Given the description of an element on the screen output the (x, y) to click on. 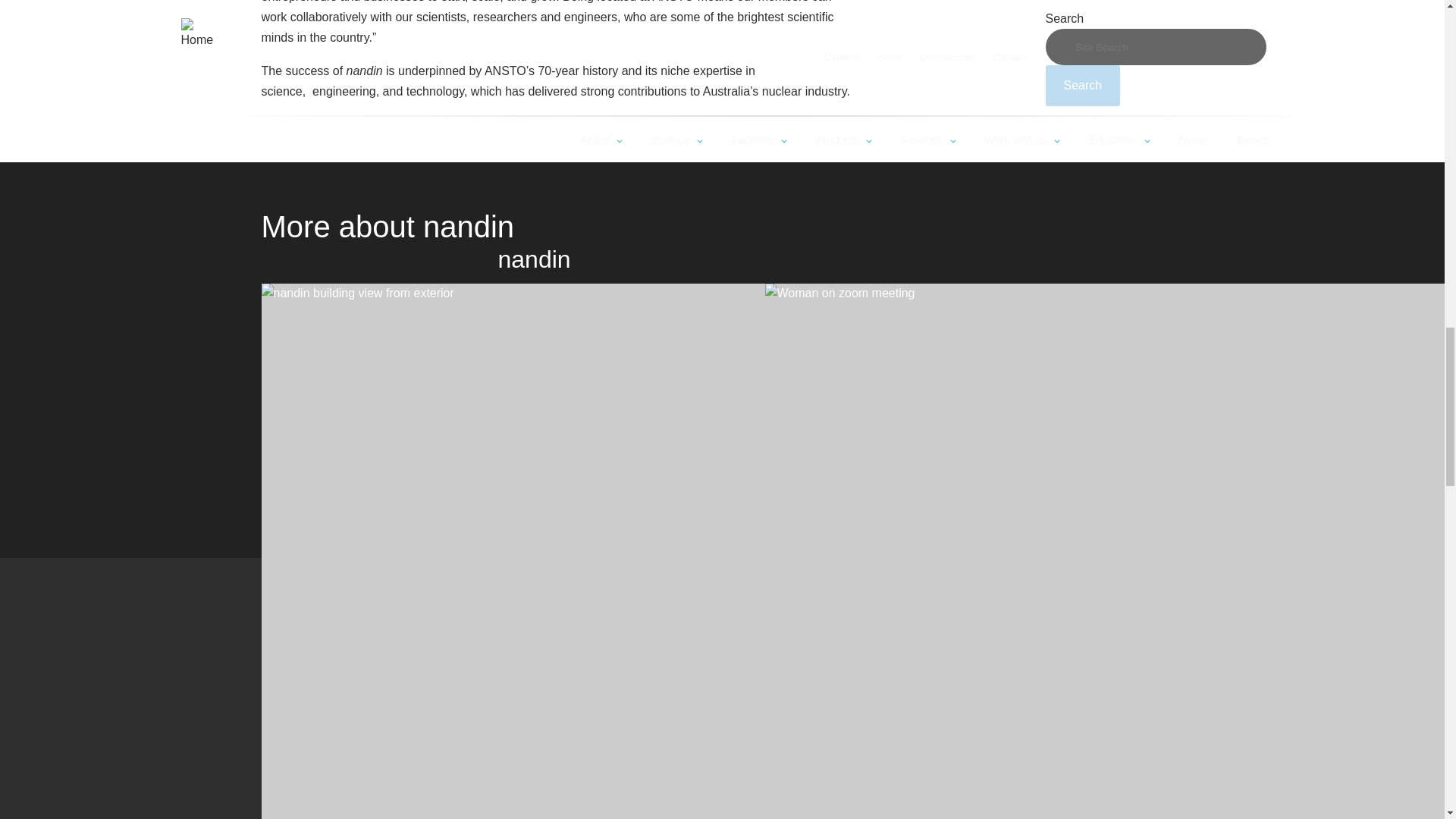
Visit the Australian Synchrotron  (366, 745)
Visit our Sydney facilities  (366, 648)
